Given the description of an element on the screen output the (x, y) to click on. 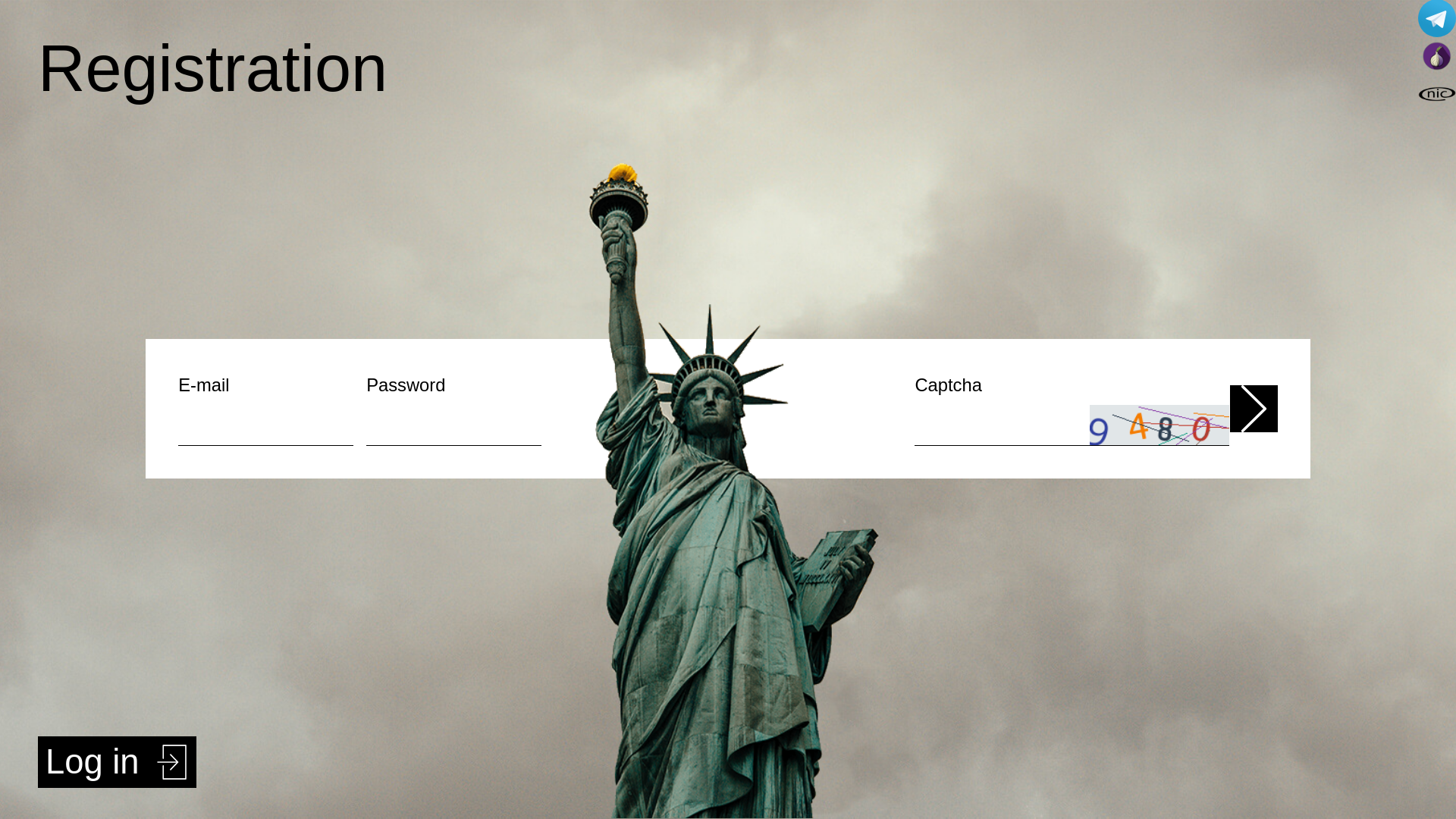
Log in Element type: text (116, 761)
